Given the description of an element on the screen output the (x, y) to click on. 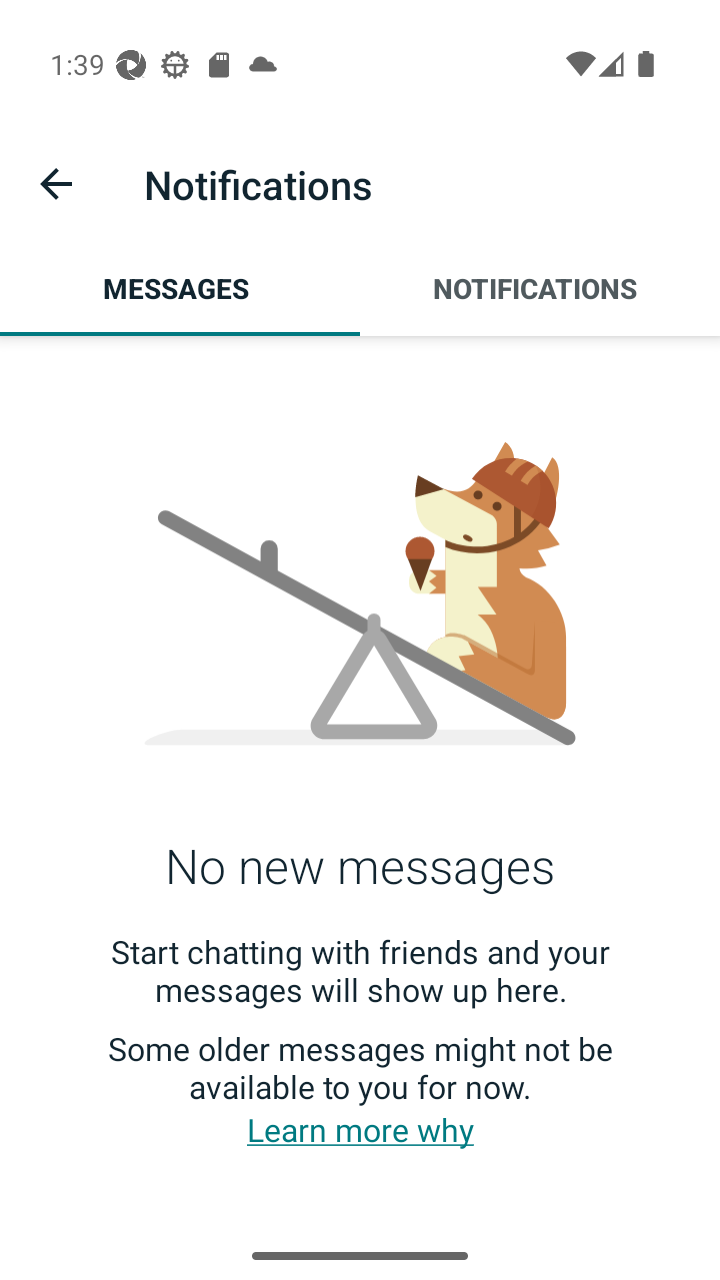
Notifications NOTIFICATIONS (540, 287)
